Given the description of an element on the screen output the (x, y) to click on. 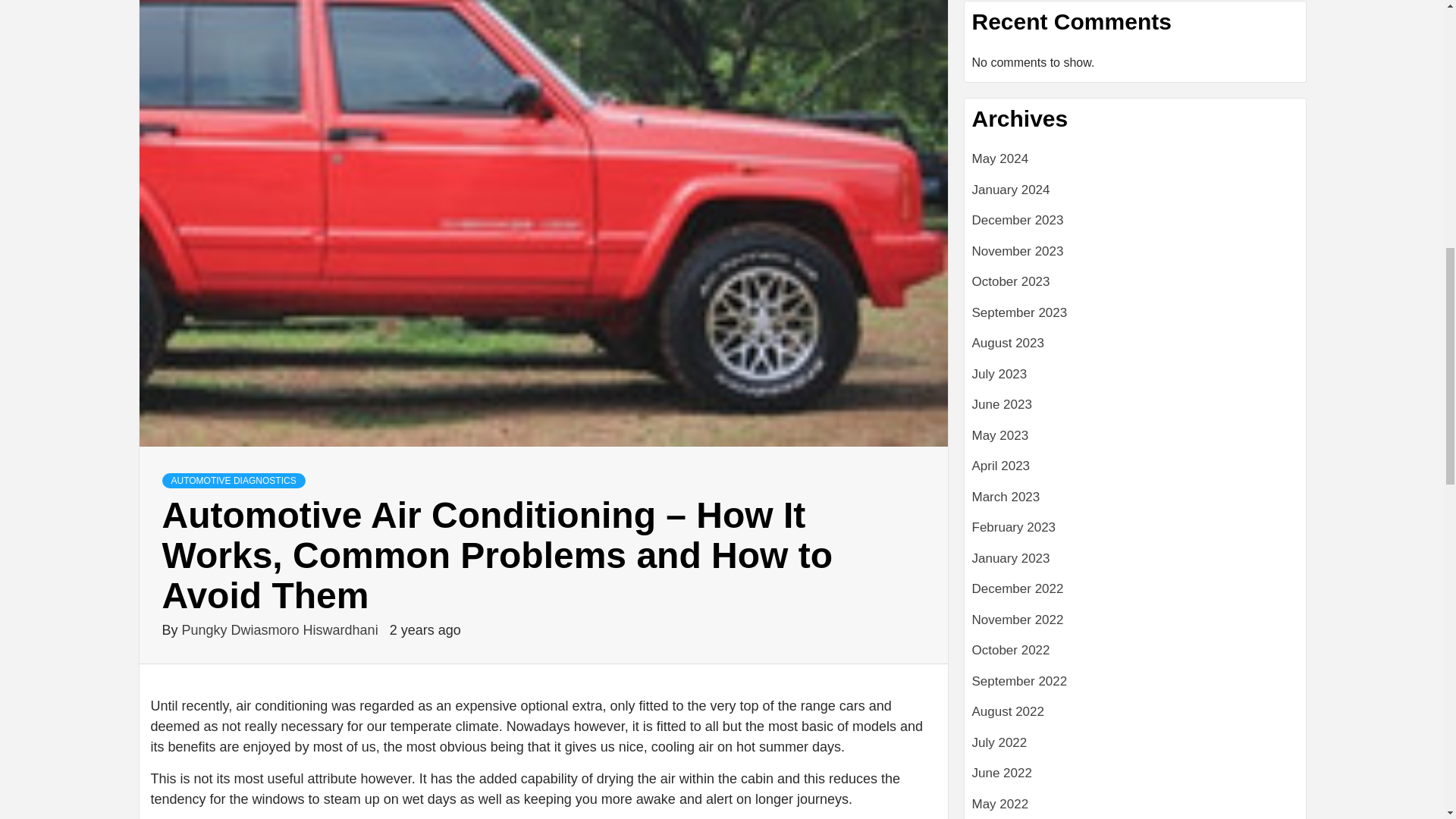
March 2023 (1135, 502)
September 2023 (1135, 318)
AUTOMOTIVE DIAGNOSTICS (233, 480)
December 2023 (1135, 225)
January 2024 (1135, 195)
May 2023 (1135, 441)
June 2023 (1135, 409)
October 2023 (1135, 287)
May 2024 (1135, 164)
November 2023 (1135, 256)
February 2023 (1135, 532)
April 2023 (1135, 471)
Pungky Dwiasmoro Hiswardhani (281, 630)
July 2023 (1135, 379)
August 2023 (1135, 348)
